Given the description of an element on the screen output the (x, y) to click on. 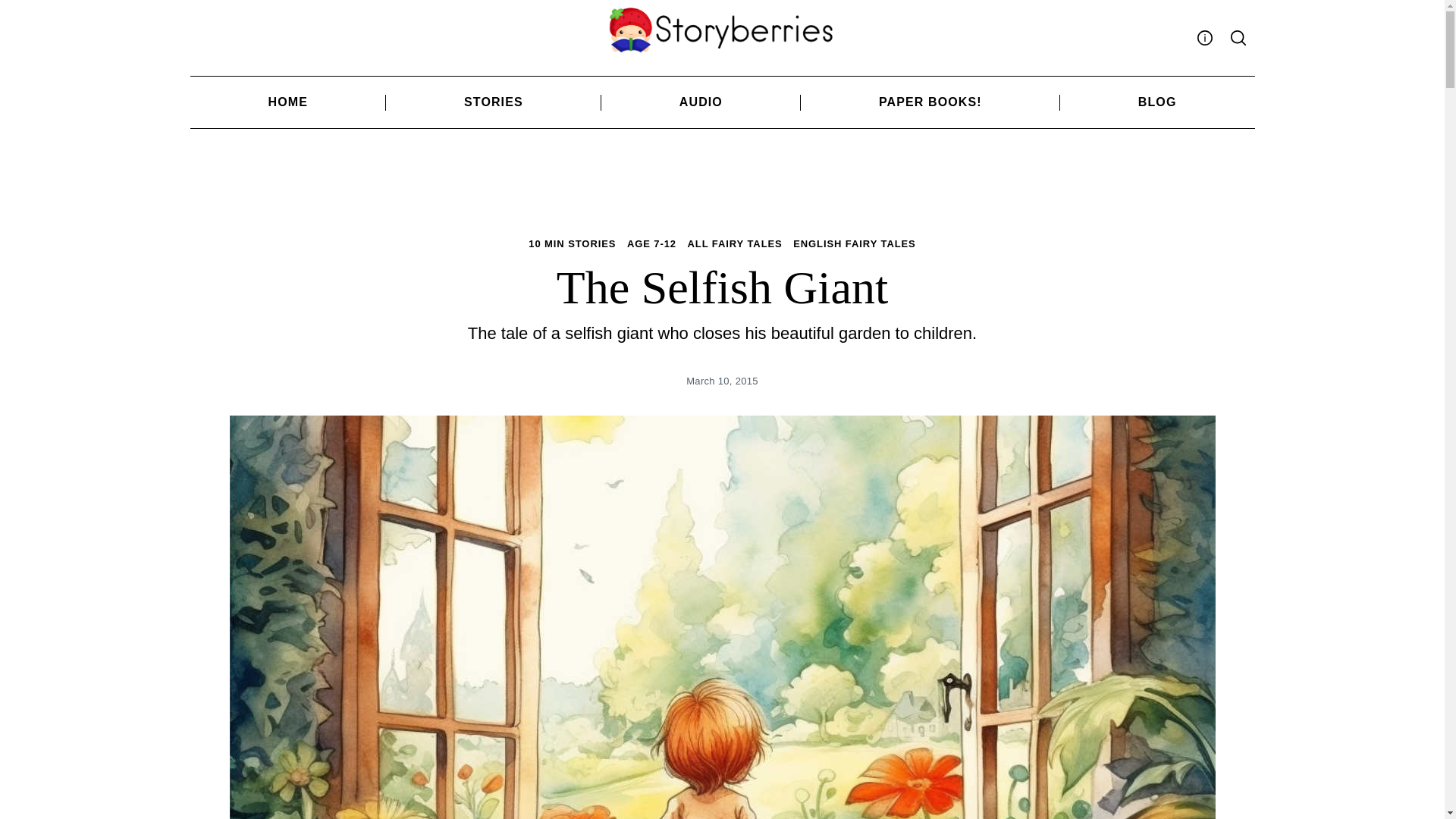
STORIES (493, 102)
BLOG (1157, 102)
10 MIN STORIES (571, 244)
PAPER BOOKS! (929, 102)
HOME (287, 102)
ENGLISH FAIRY TALES (854, 244)
AUDIO (700, 102)
AGE 7-12 (652, 244)
ALL FAIRY TALES (735, 244)
